Given the description of an element on the screen output the (x, y) to click on. 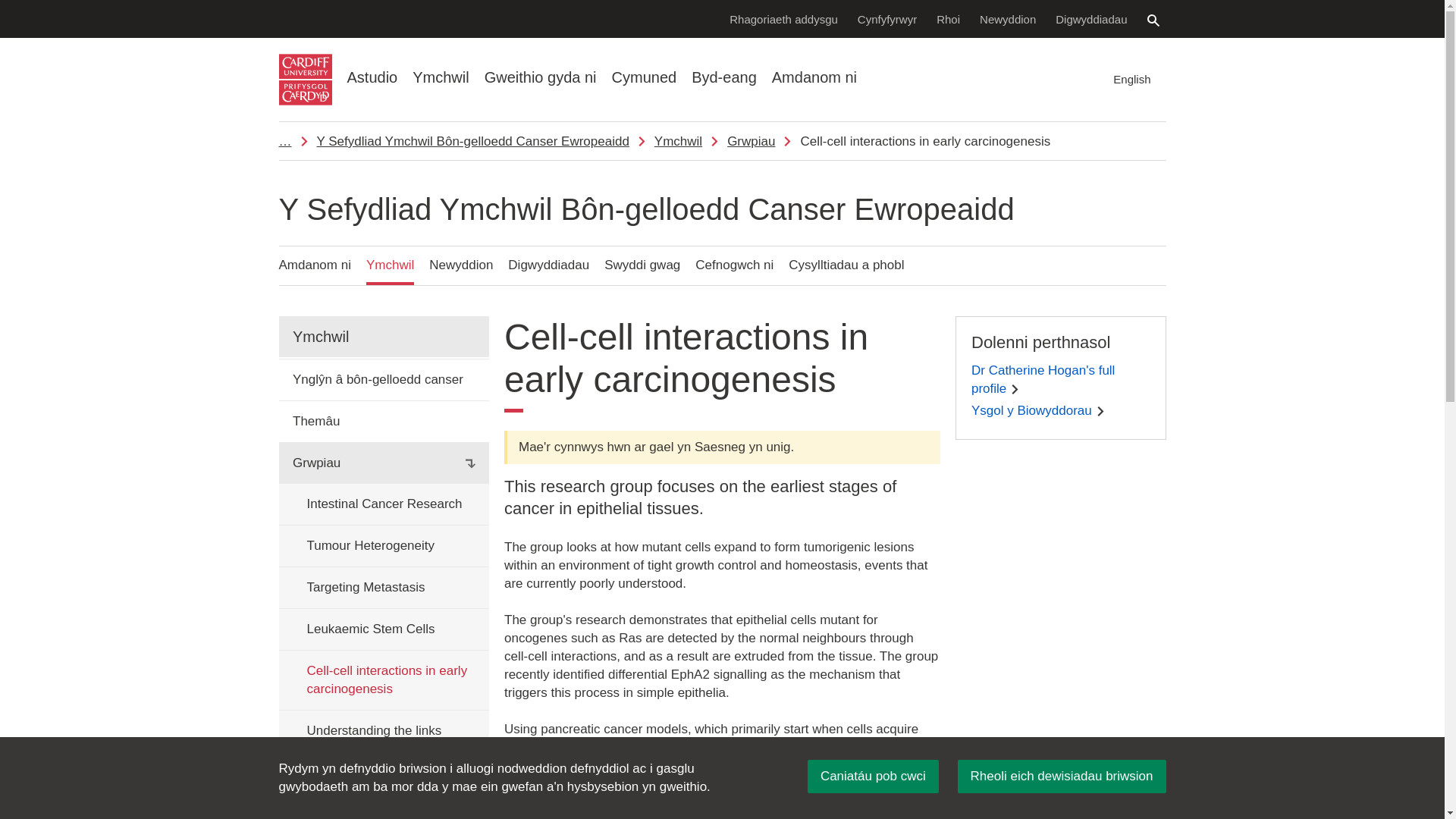
Cardiff University logo (305, 79)
Newyddion (1007, 19)
Cynfyfyrwyr (887, 19)
Cardiff University logo (305, 79)
Rhagoriaeth addysgu (783, 19)
Astudio (372, 77)
Digwyddiadau (1090, 19)
Rheoli eich dewisiadau briwsion (1062, 776)
Rhoi (948, 19)
Search (1152, 20)
Chevron right (1100, 411)
Chevron right (1015, 388)
